Given the description of an element on the screen output the (x, y) to click on. 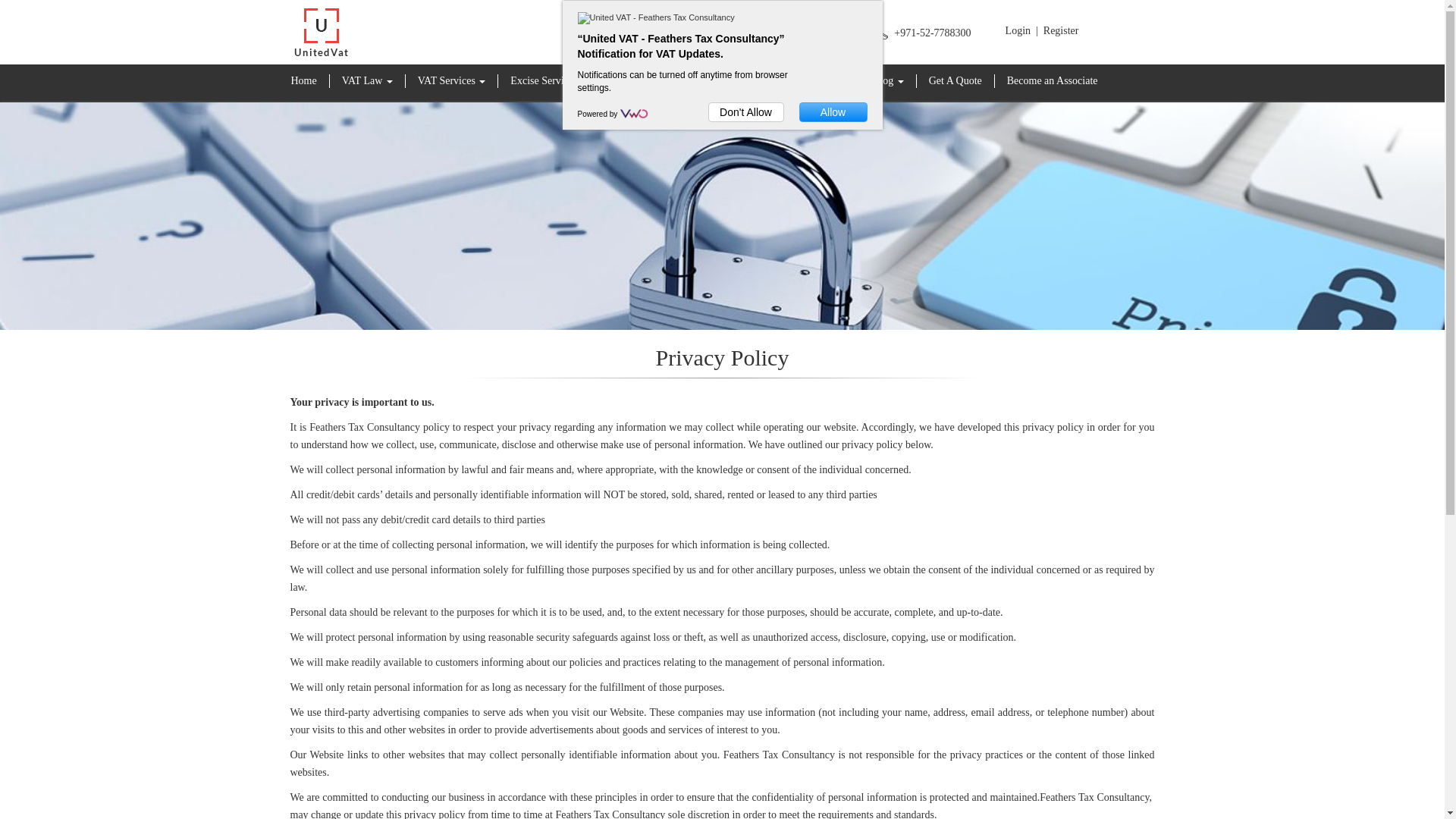
VAT Services (452, 80)
Excise Services (548, 80)
Home (304, 80)
VAT Impact (798, 80)
VAT Law (368, 80)
